Given the description of an element on the screen output the (x, y) to click on. 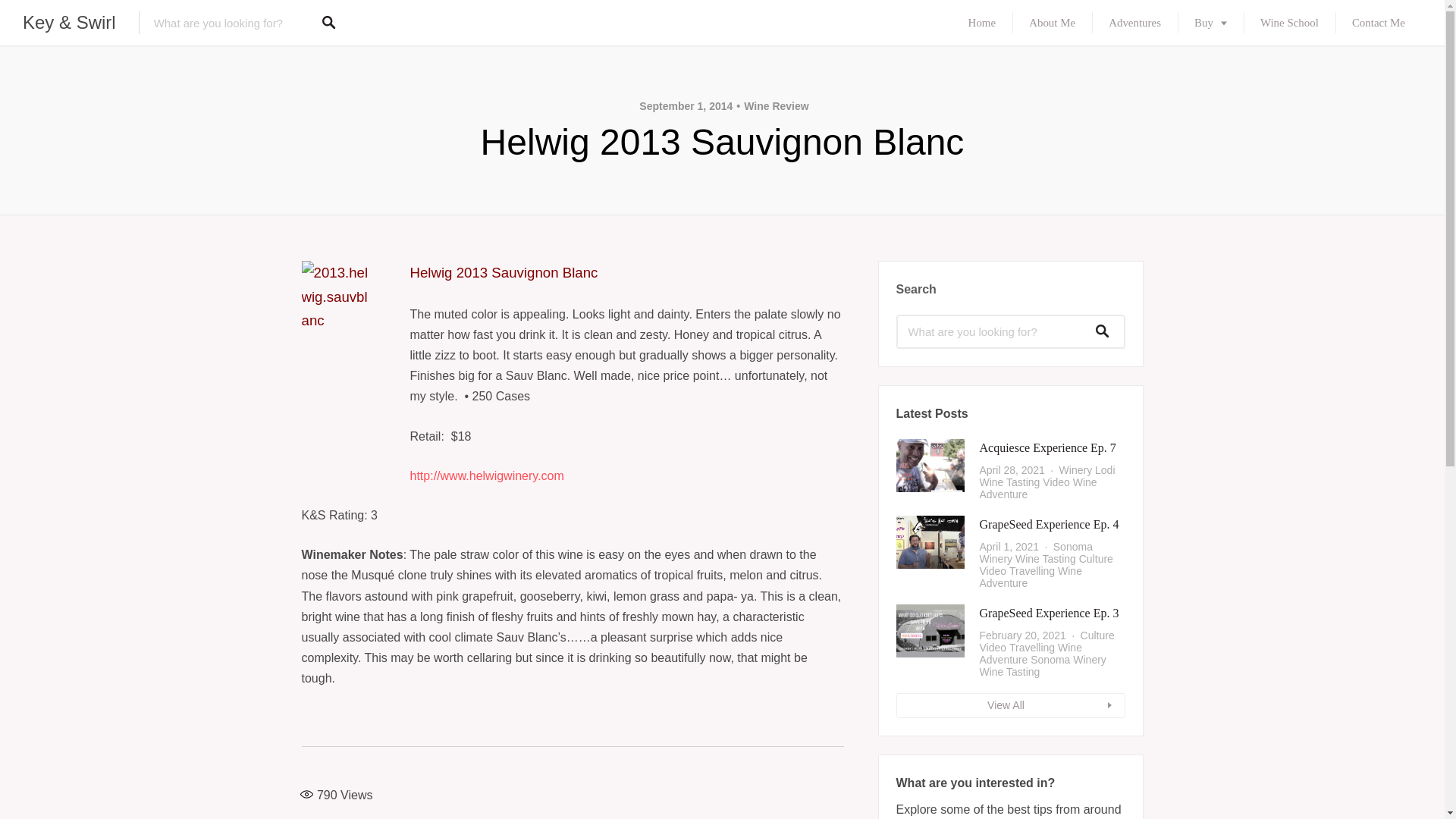
Buy (1210, 22)
Home (982, 22)
Wine Review (772, 105)
Acquiesce Experience Ep. 7 (1047, 447)
April 1, 2021 (1009, 546)
Lodi (1104, 469)
April 28, 2021 (1012, 469)
Wine Tasting (1044, 558)
Sonoma (1072, 546)
September 1, 2014 (685, 105)
Wine Adventure (1038, 487)
Adventures (1134, 22)
Winery (996, 558)
Page 1 (572, 616)
GrapeSeed Experience Ep. 4 (1049, 523)
